Given the description of an element on the screen output the (x, y) to click on. 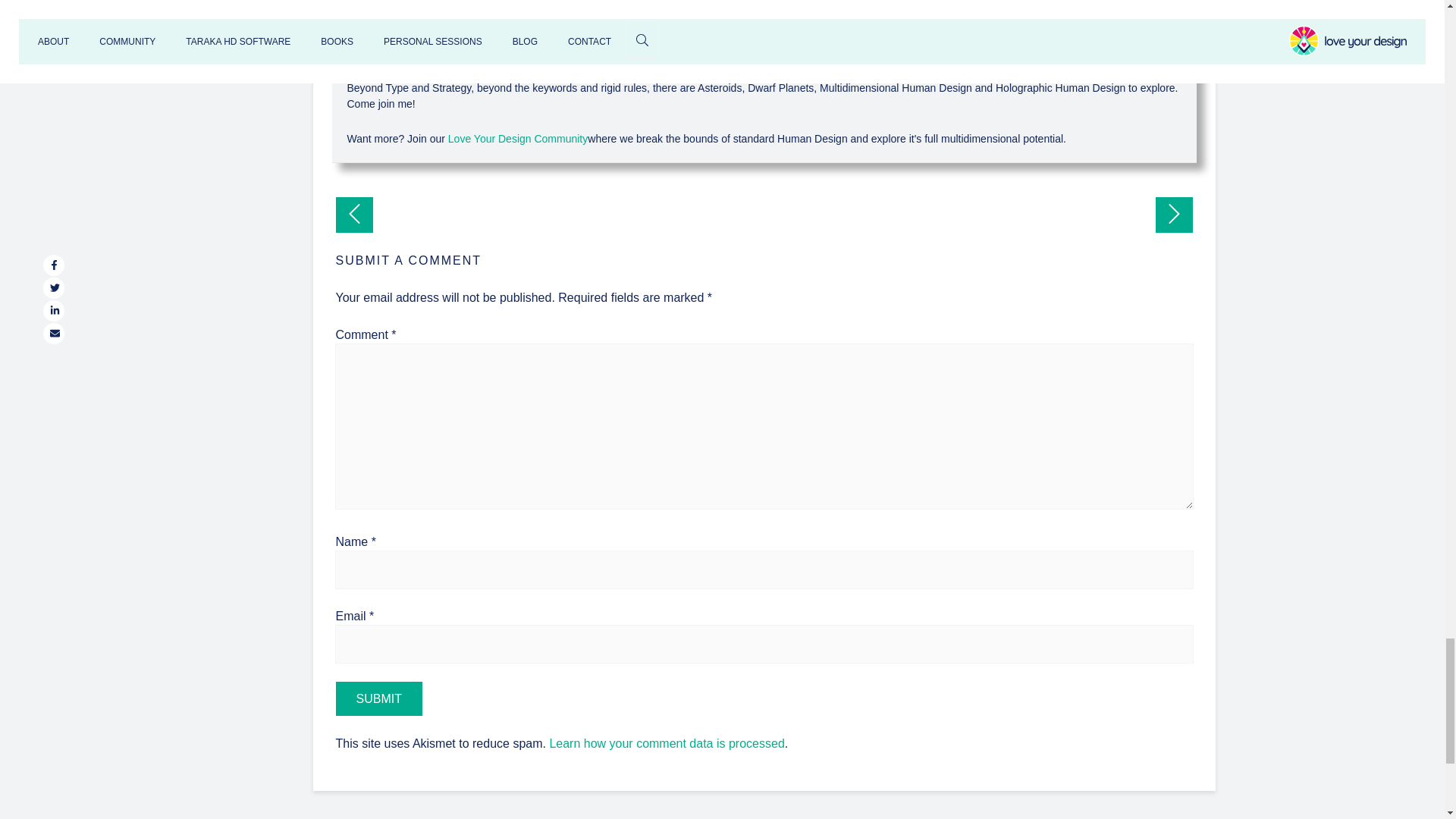
Kim Gould (763, 17)
Submit (378, 698)
Submit (378, 698)
Love Your Design Community (518, 138)
Learn how your comment data is processed (666, 743)
